Given the description of an element on the screen output the (x, y) to click on. 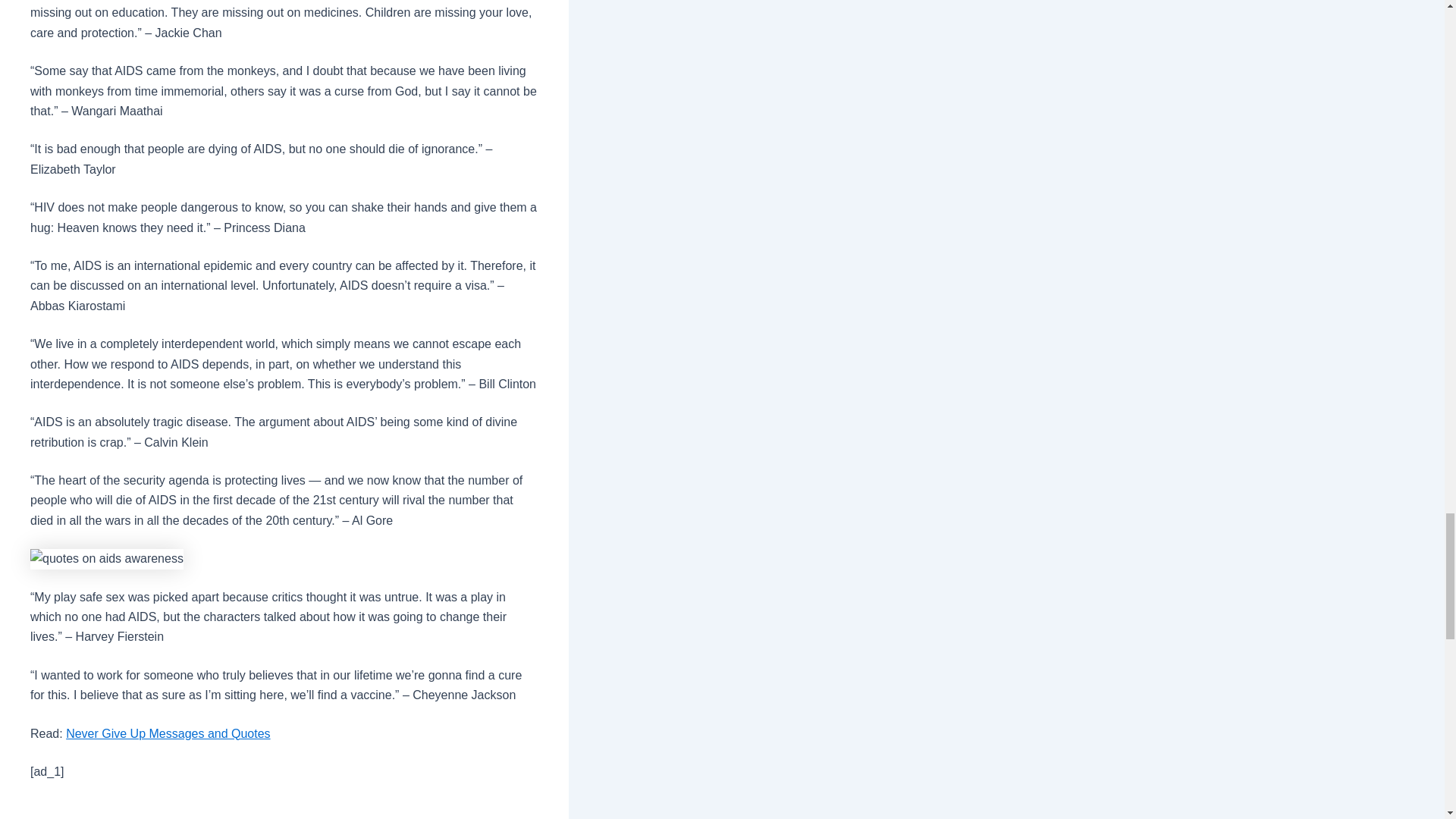
Never Give Up Messages and Quotes (167, 733)
